Given the description of an element on the screen output the (x, y) to click on. 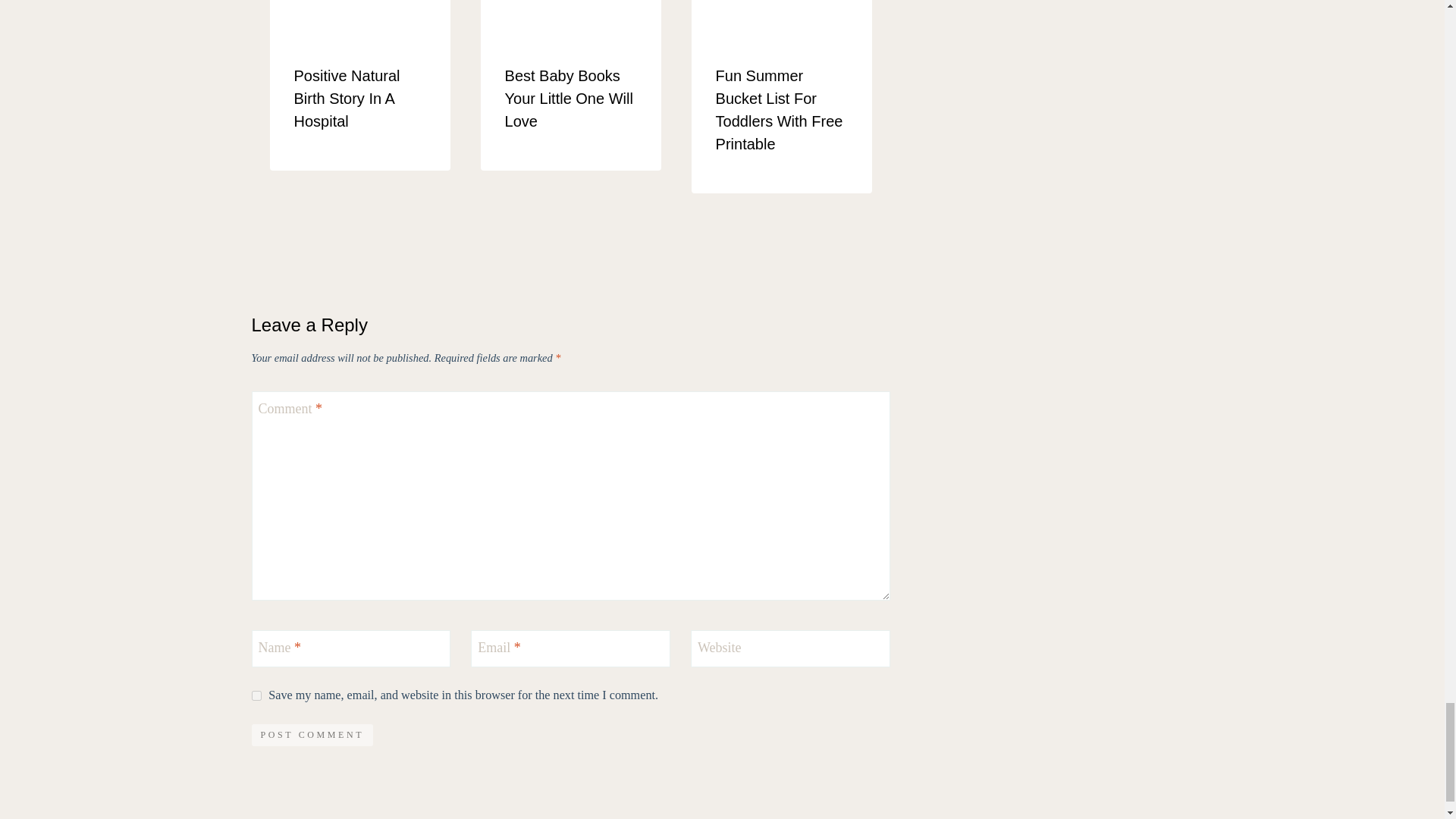
Post Comment (312, 734)
yes (256, 696)
